Given the description of an element on the screen output the (x, y) to click on. 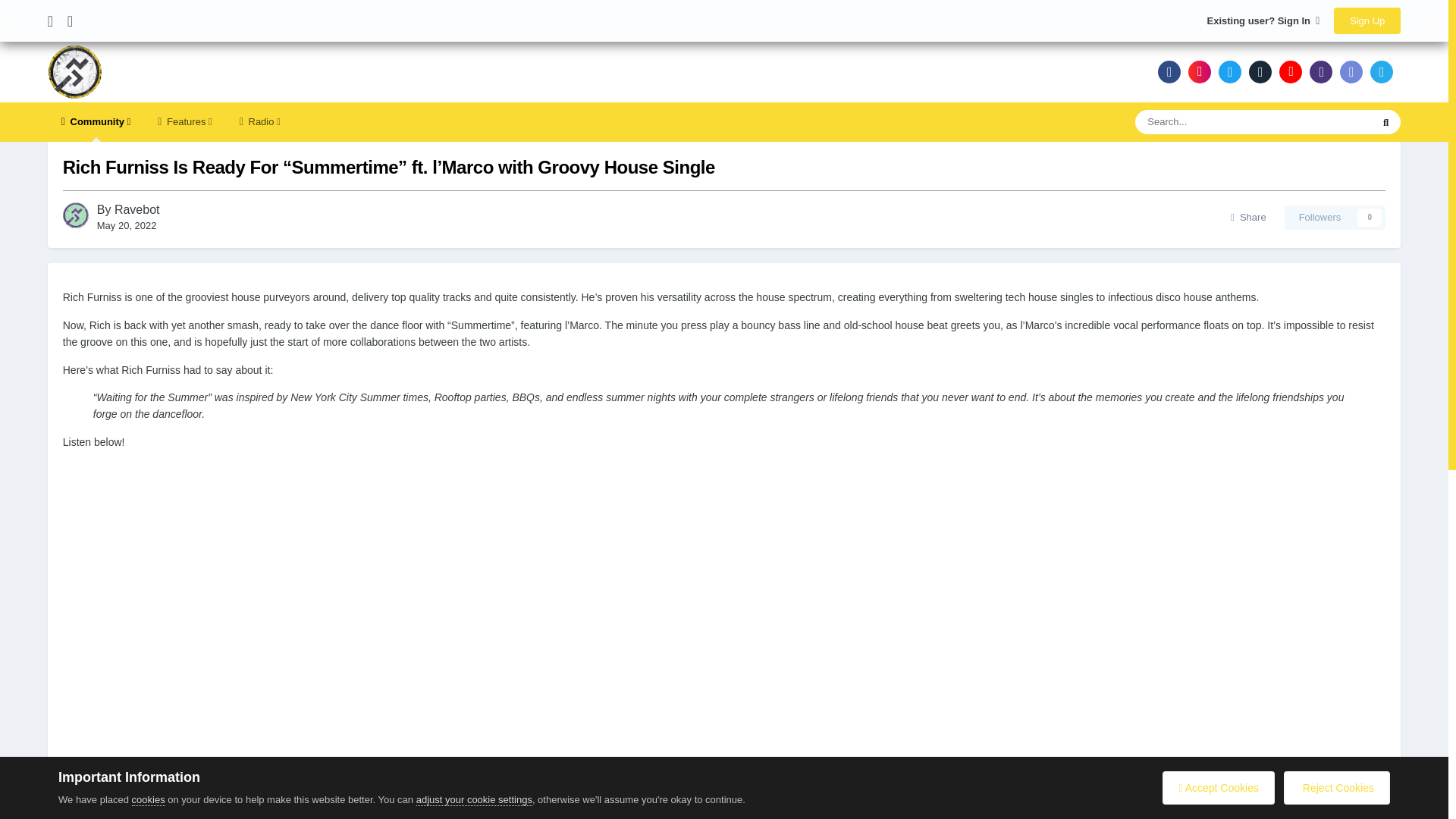
Sign Up (1366, 20)
Community (96, 121)
Radio (259, 121)
Sign in to follow this (1335, 217)
Go to Ravebot's profile (75, 215)
Features (184, 121)
Existing user? Sign In   (1263, 20)
Go to Ravebot's profile (137, 209)
